Given the description of an element on the screen output the (x, y) to click on. 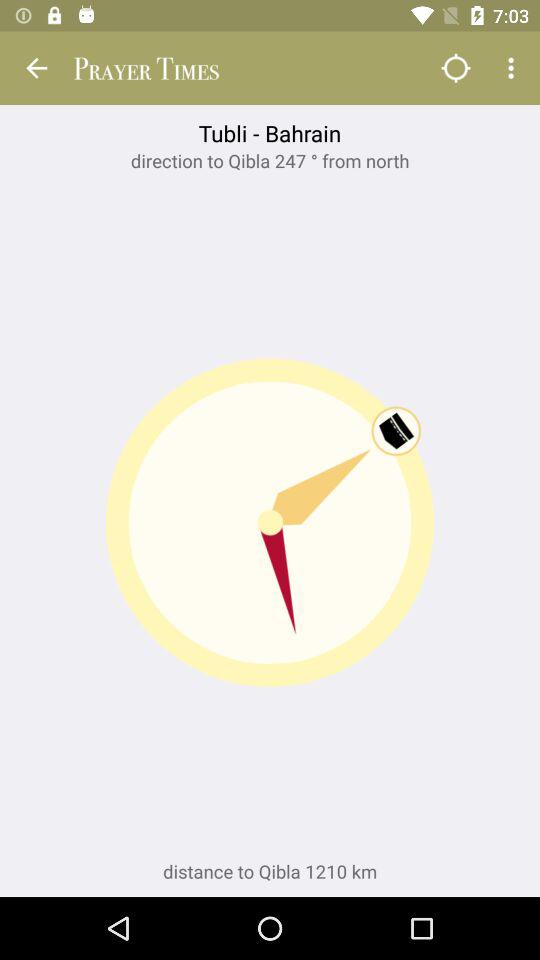
choose app above tubli - bahrain app (455, 67)
